Given the description of an element on the screen output the (x, y) to click on. 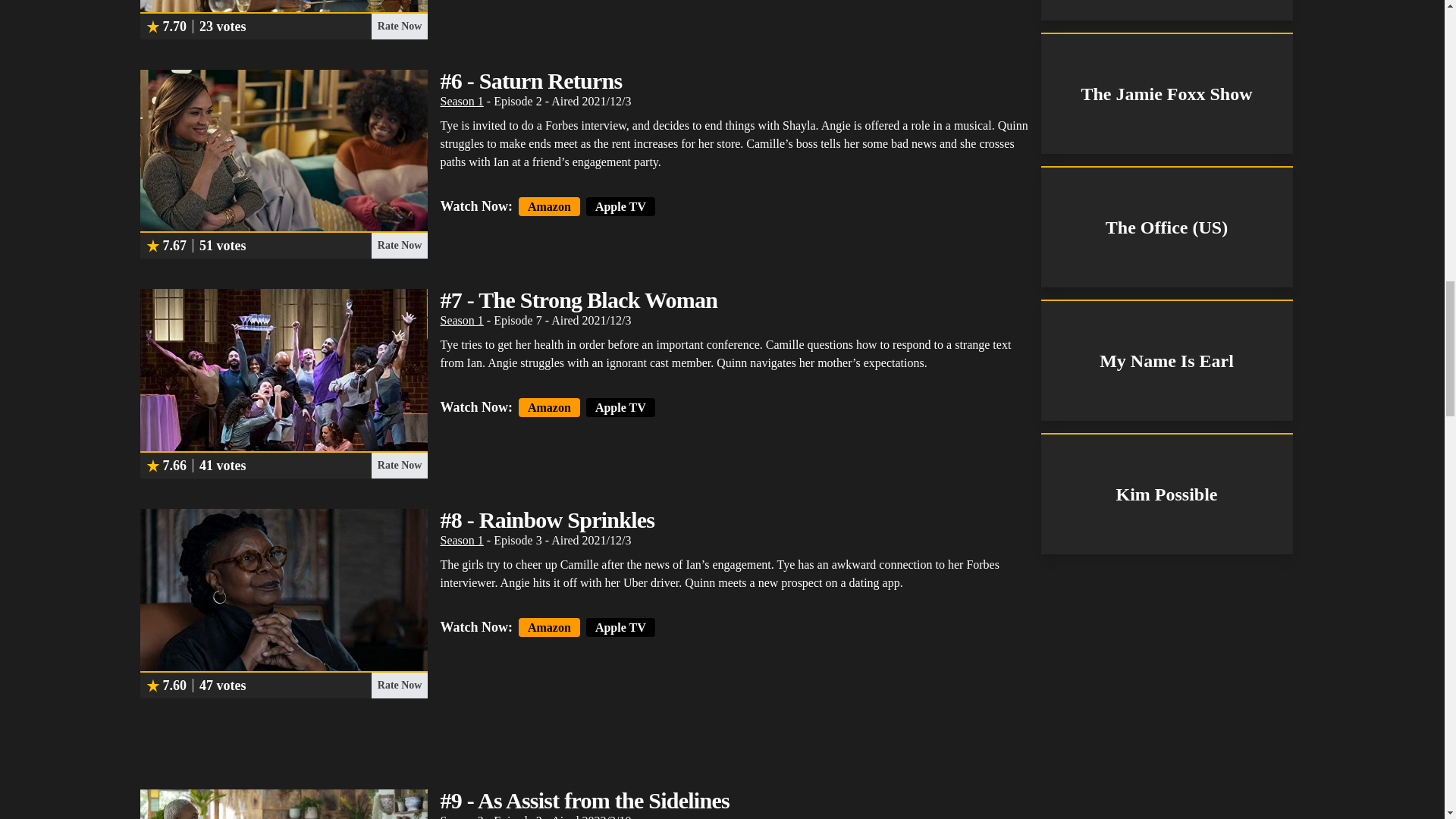
Amazon (548, 407)
Rate Now (399, 465)
Apple TV (620, 407)
Apple TV (620, 206)
Rate Now (399, 26)
Season 1 (461, 319)
Rate Now (399, 245)
Amazon (548, 206)
Rate Now (399, 685)
Season 1 (461, 540)
